Given the description of an element on the screen output the (x, y) to click on. 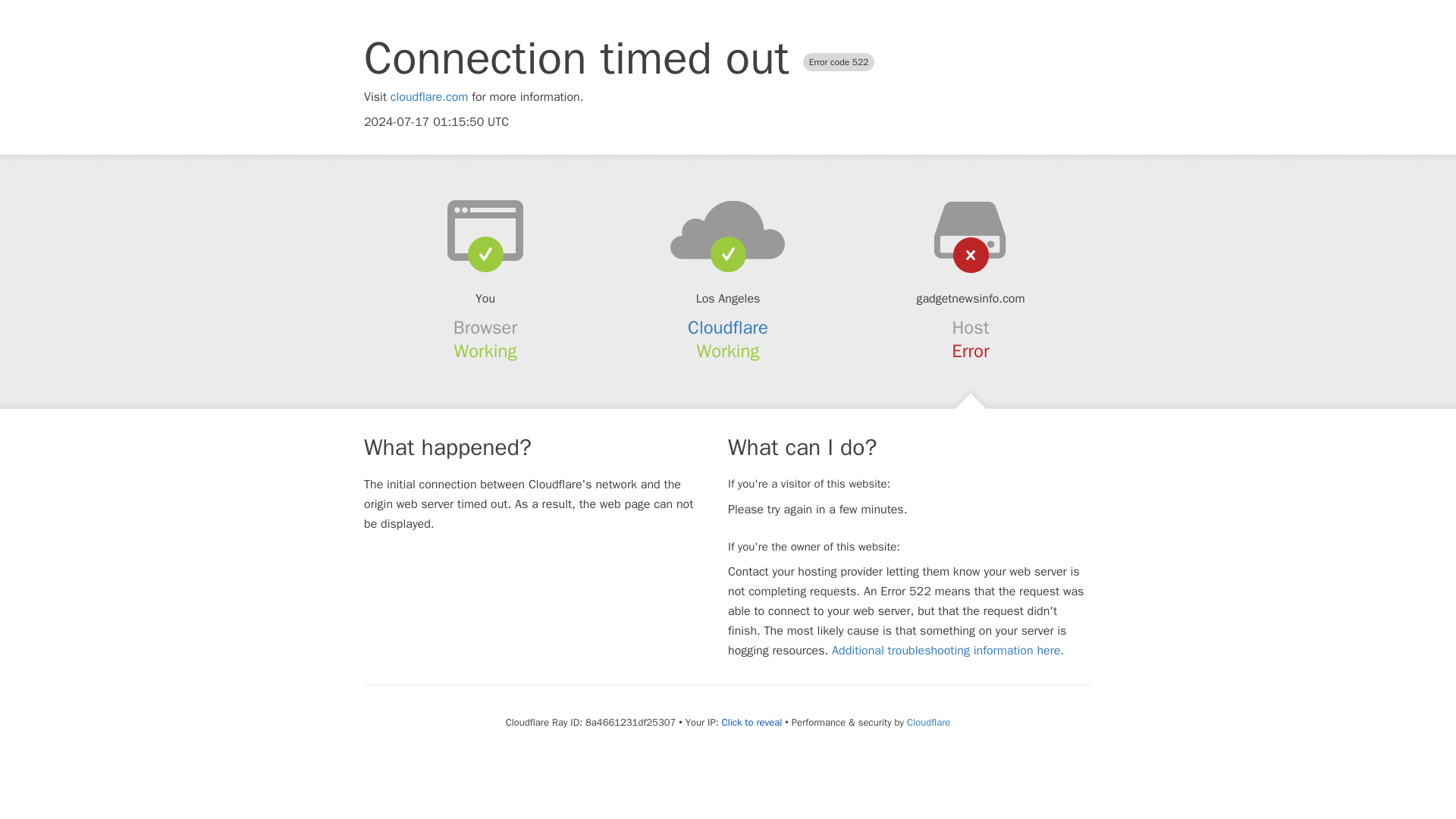
Cloudflare (727, 327)
Additional troubleshooting information here. (947, 650)
cloudflare.com (429, 96)
Click to reveal (750, 722)
Cloudflare (928, 721)
